Given the description of an element on the screen output the (x, y) to click on. 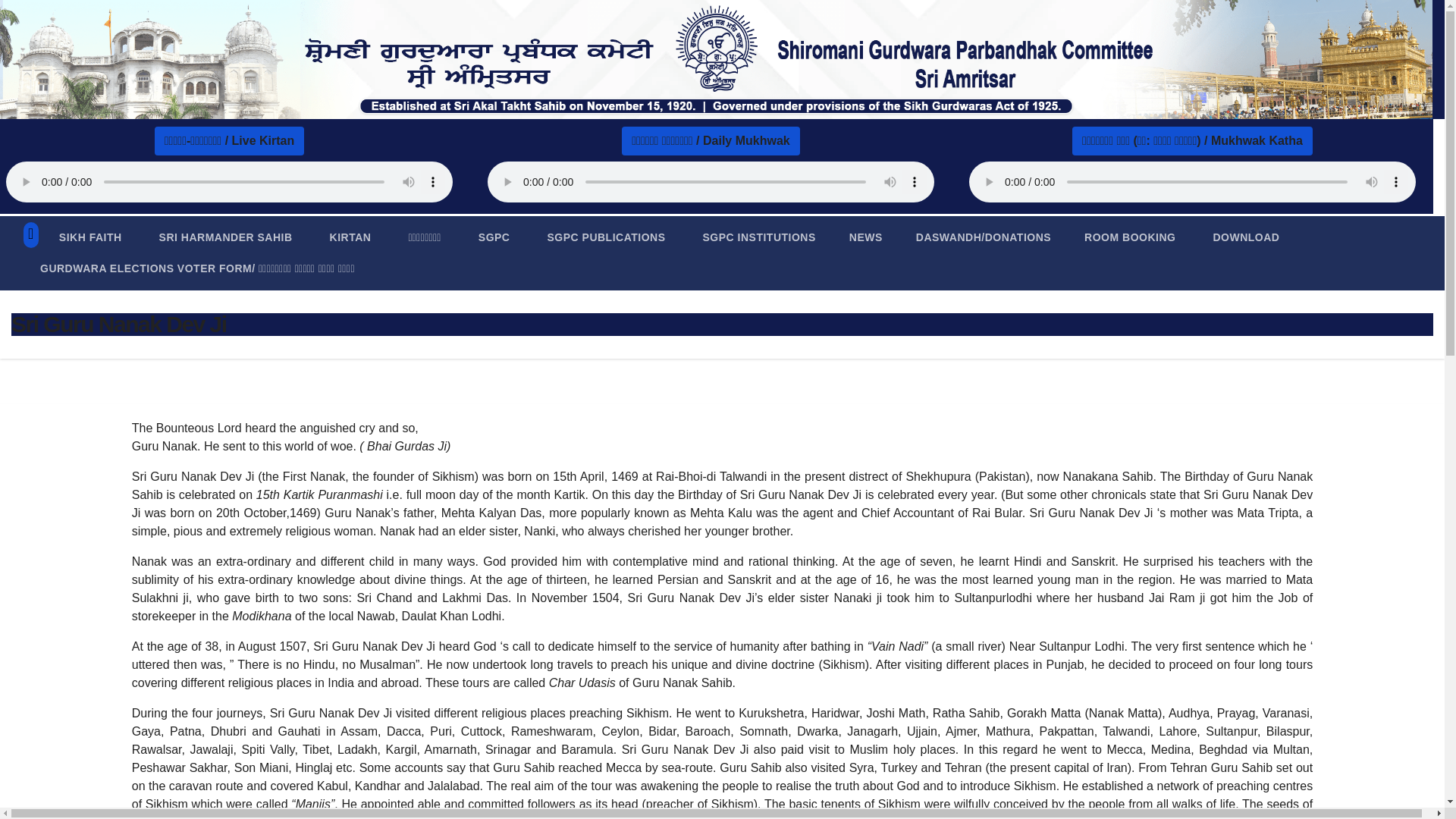
Sri Harmander Sahib (225, 237)
Sikh Faith (90, 237)
KIRTAN (350, 237)
SRI HARMANDER SAHIB (225, 237)
SIKH FAITH (90, 237)
